Given the description of an element on the screen output the (x, y) to click on. 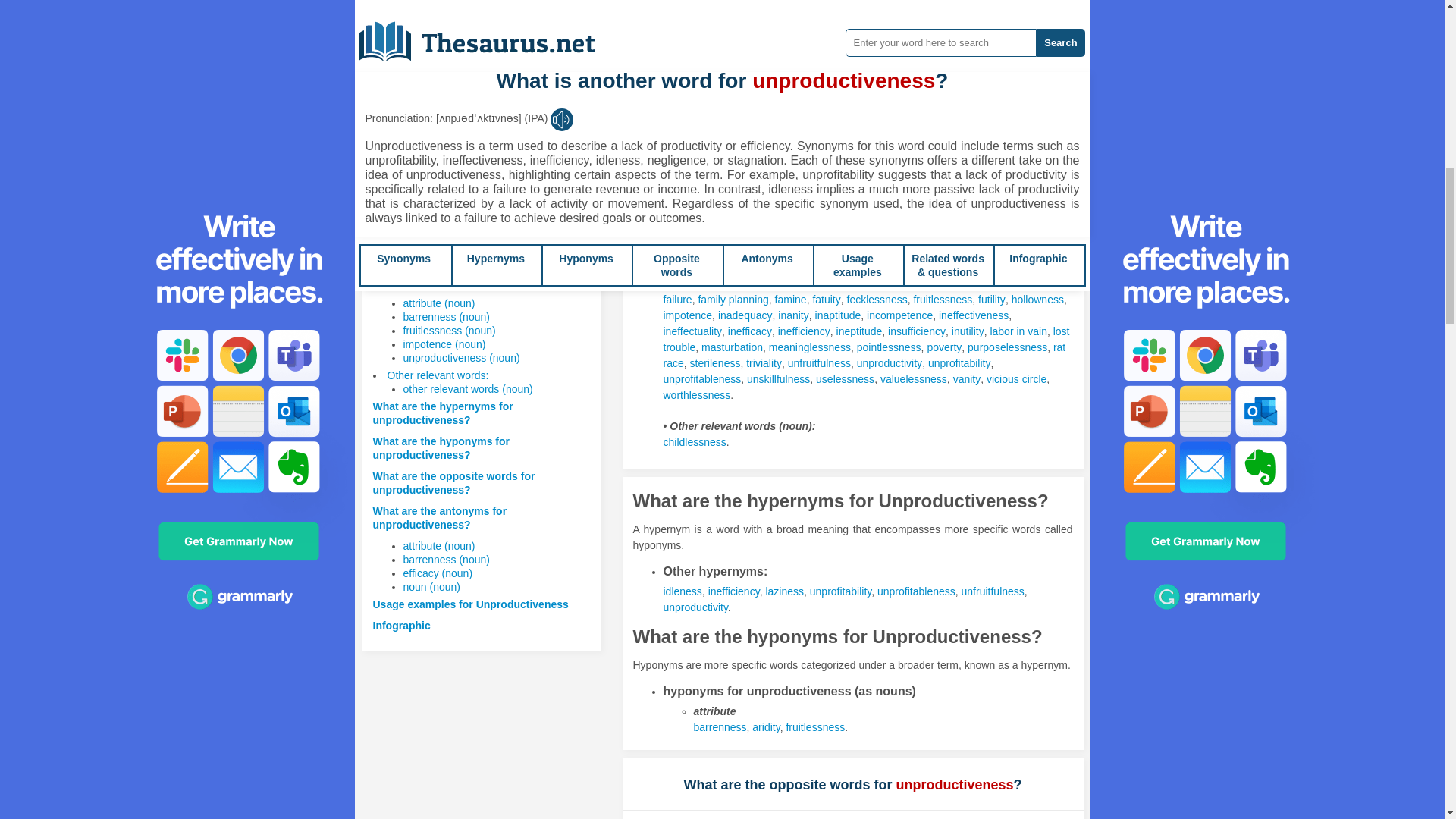
Synonyms for Unproductiveness (688, 267)
What is another word for unproductiveness? (434, 253)
Synonyms for Unproductiveness (708, 169)
fallow (676, 216)
Synonyms for Unproductiveness (935, 267)
What are the opposite words for unproductiveness? (453, 483)
Synonyms for Unproductiveness (1029, 267)
Other relevant words: (437, 375)
Synonyms for Unproductiveness (785, 267)
Synonyms for Unproductiveness (876, 283)
Infecundity (688, 267)
Infographic (401, 625)
Synonyms for Unproductiveness (681, 75)
What are the hypernyms for unproductiveness? (442, 412)
Synonyms for Unproductiveness (830, 267)
